Given the description of an element on the screen output the (x, y) to click on. 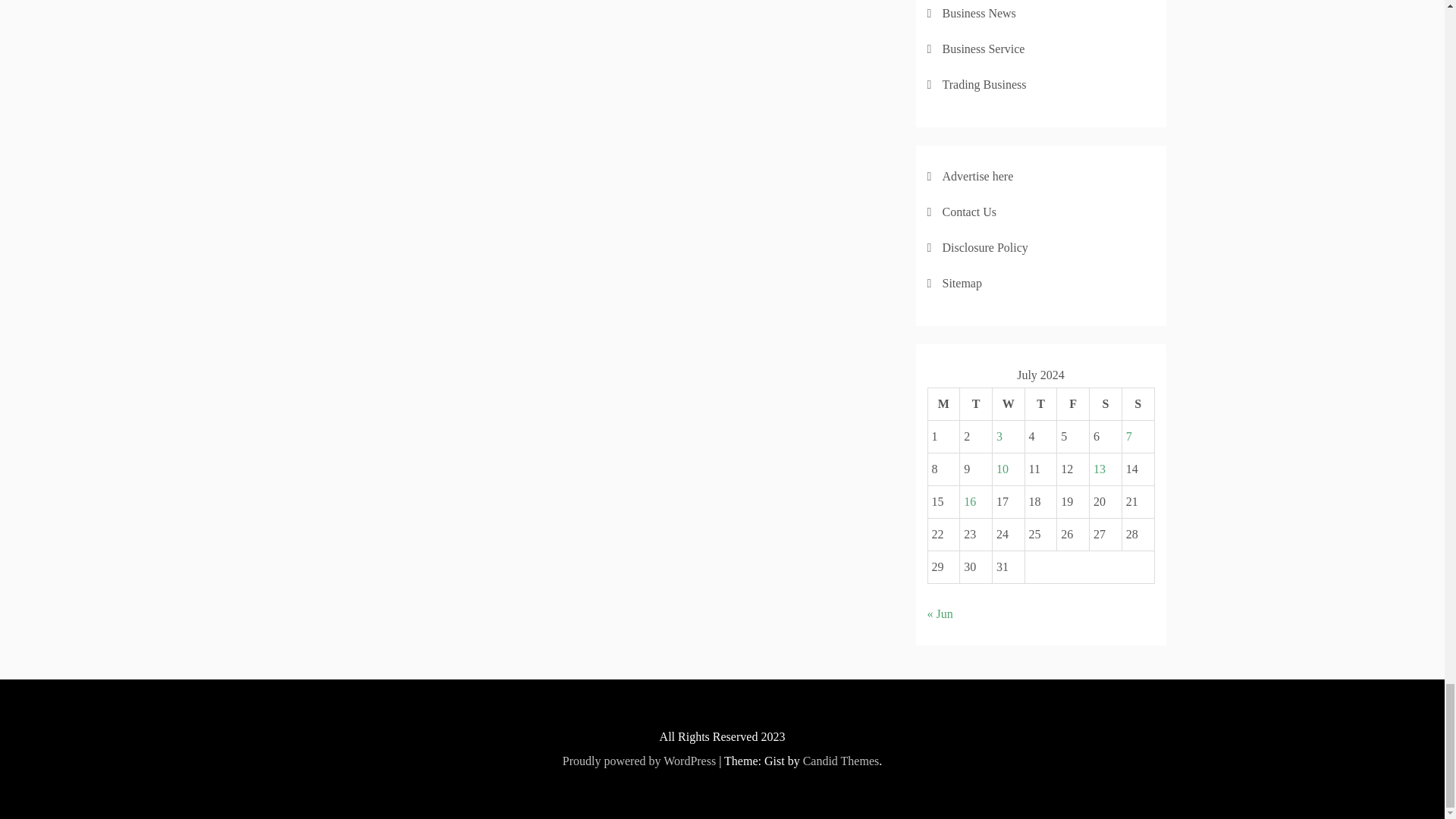
Tuesday (975, 403)
Monday (943, 403)
Wednesday (1008, 403)
Saturday (1105, 403)
Sunday (1137, 403)
Thursday (1041, 403)
Friday (1073, 403)
